Given the description of an element on the screen output the (x, y) to click on. 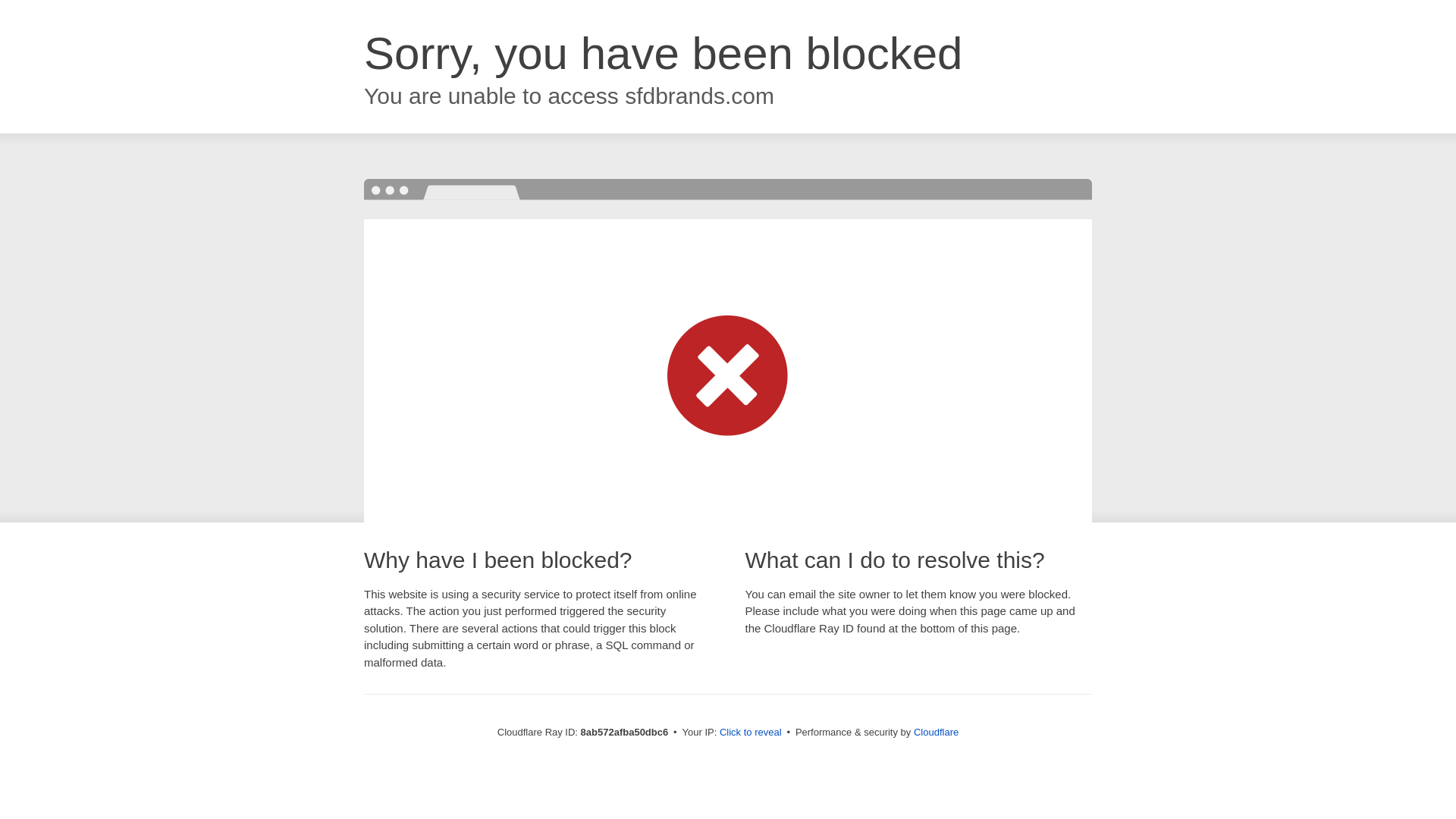
Cloudflare (936, 731)
Click to reveal (750, 732)
